Given the description of an element on the screen output the (x, y) to click on. 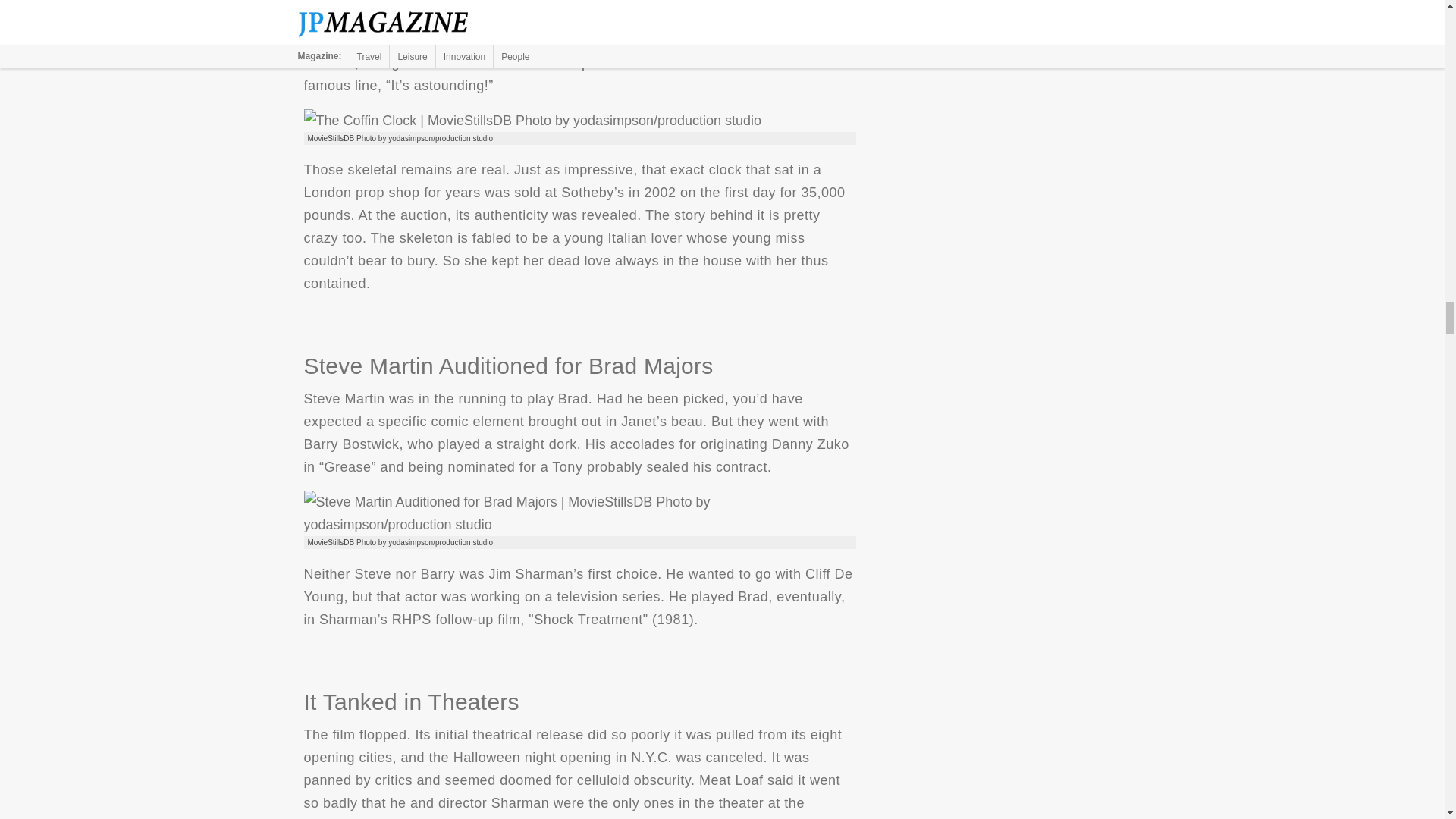
Steve Martin Auditioned for Brad Majors (579, 513)
The Coffin Clock (531, 119)
